Given the description of an element on the screen output the (x, y) to click on. 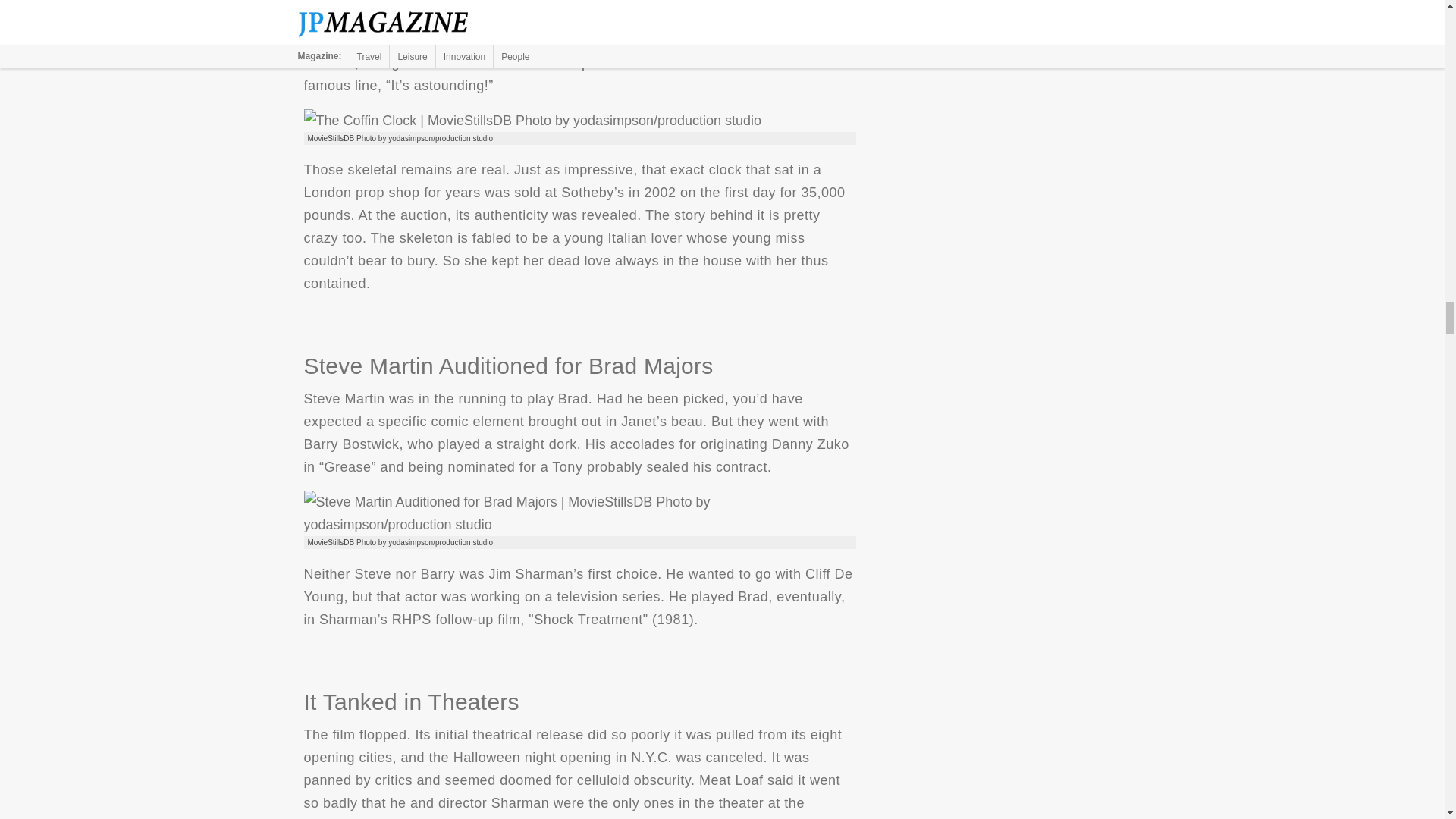
Steve Martin Auditioned for Brad Majors (579, 513)
The Coffin Clock (531, 119)
